Given the description of an element on the screen output the (x, y) to click on. 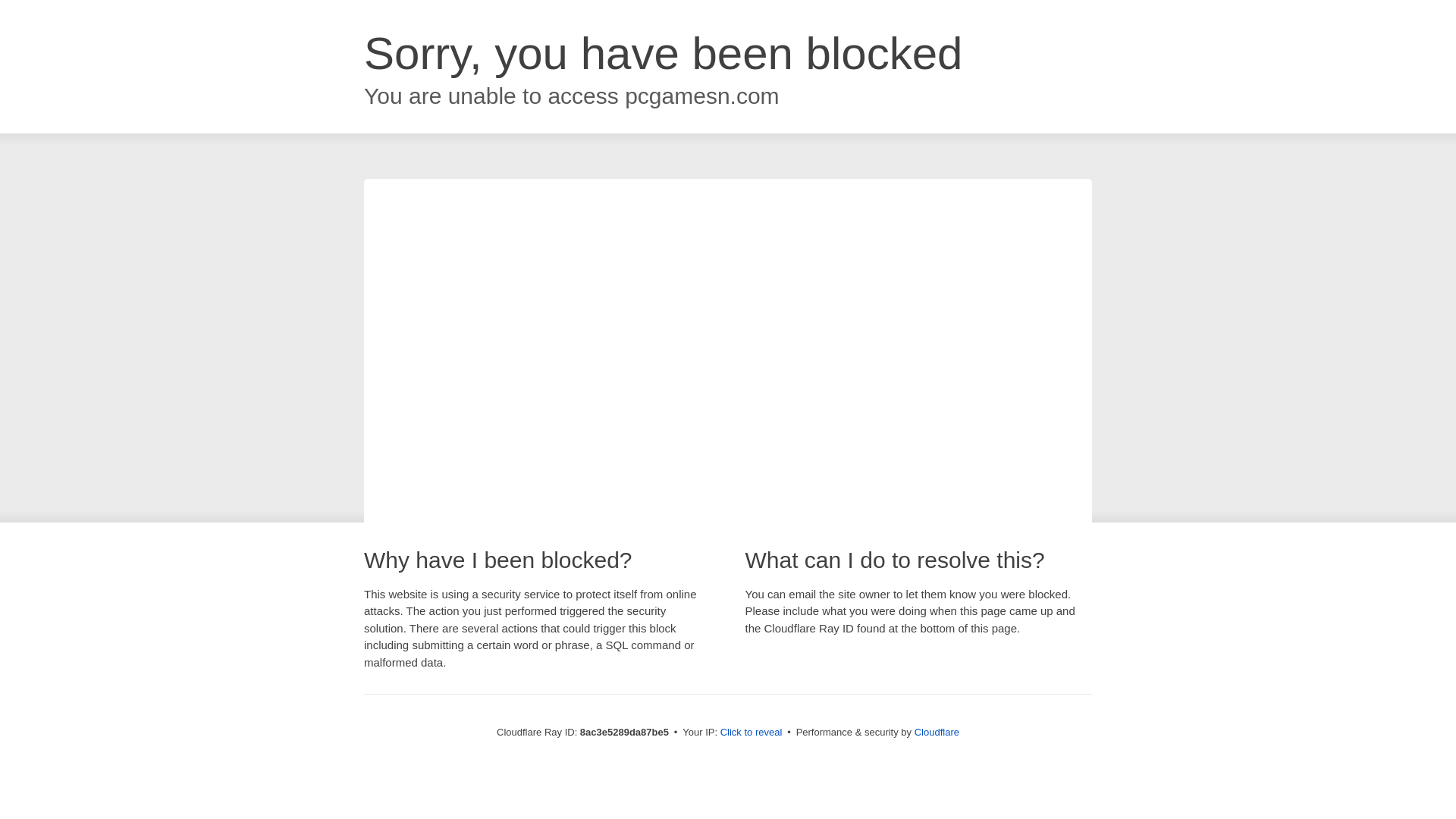
Cloudflare (936, 731)
Click to reveal (751, 732)
